Given the description of an element on the screen output the (x, y) to click on. 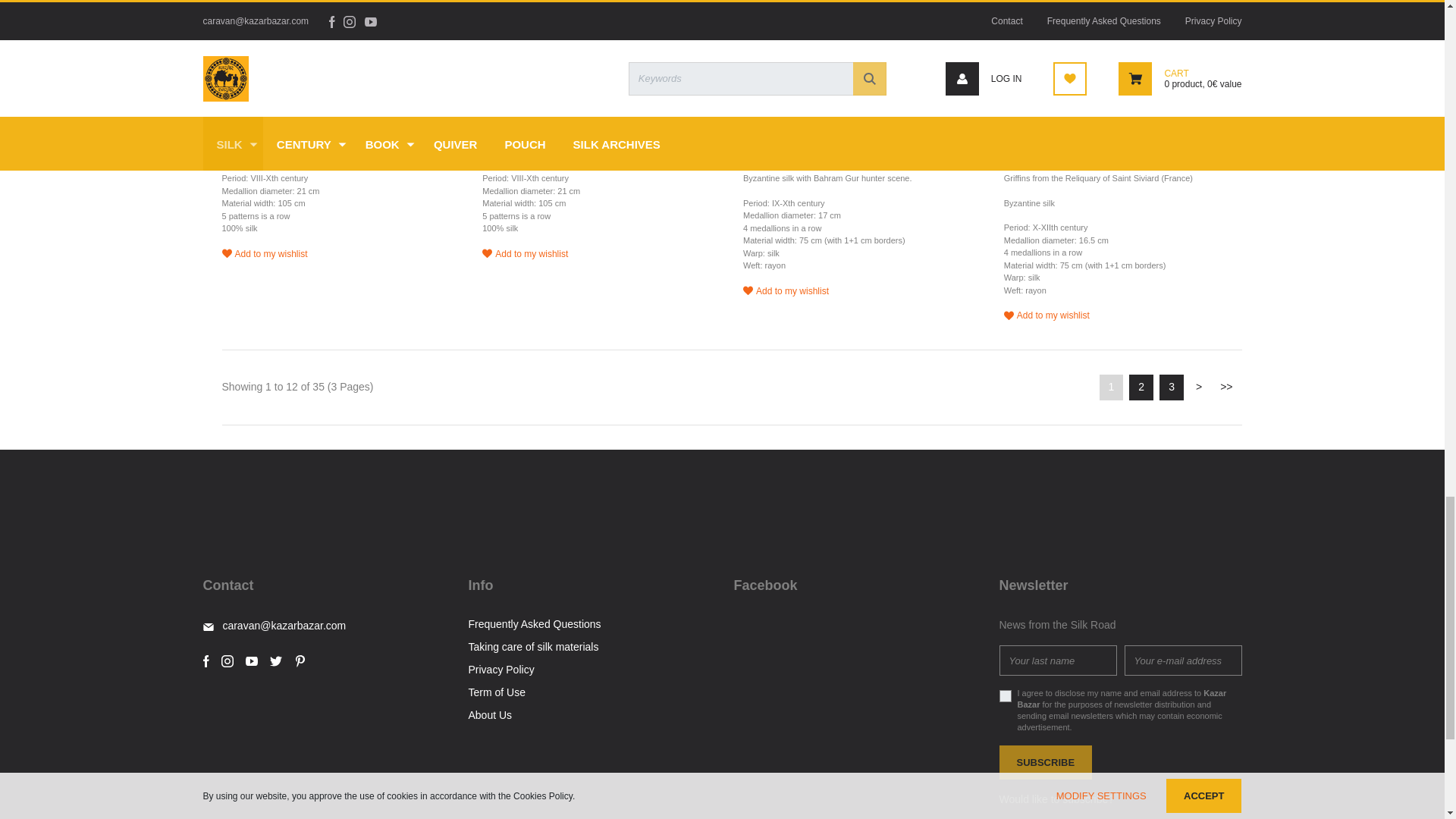
1 (506, 62)
1 (1028, 62)
1 (245, 62)
1 (767, 62)
